Given the description of an element on the screen output the (x, y) to click on. 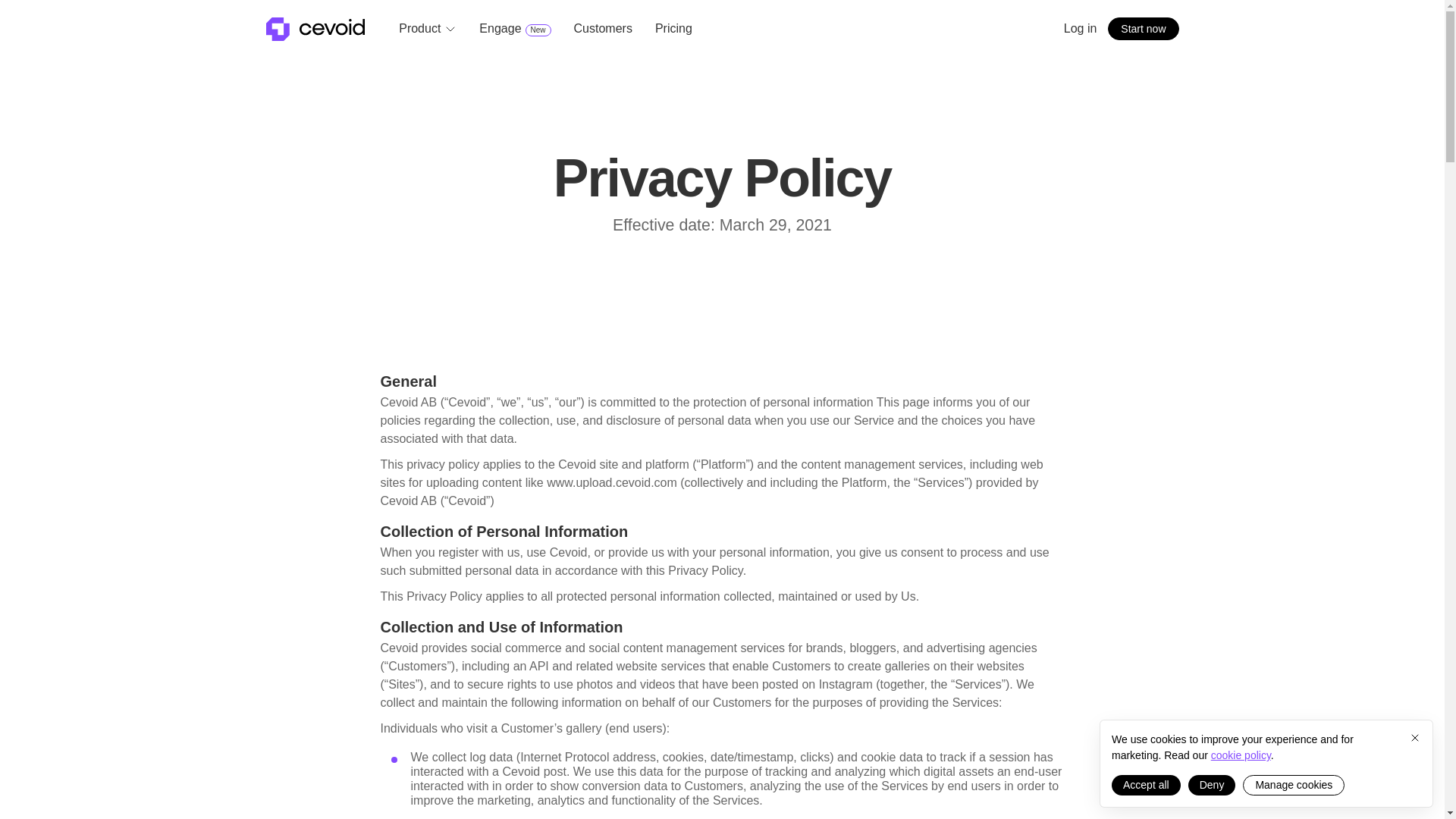
Customers (602, 28)
Start now (1142, 28)
Start now (1142, 28)
Manage cookies (514, 28)
cookie policy (1293, 784)
Pricing (1241, 755)
